Given the description of an element on the screen output the (x, y) to click on. 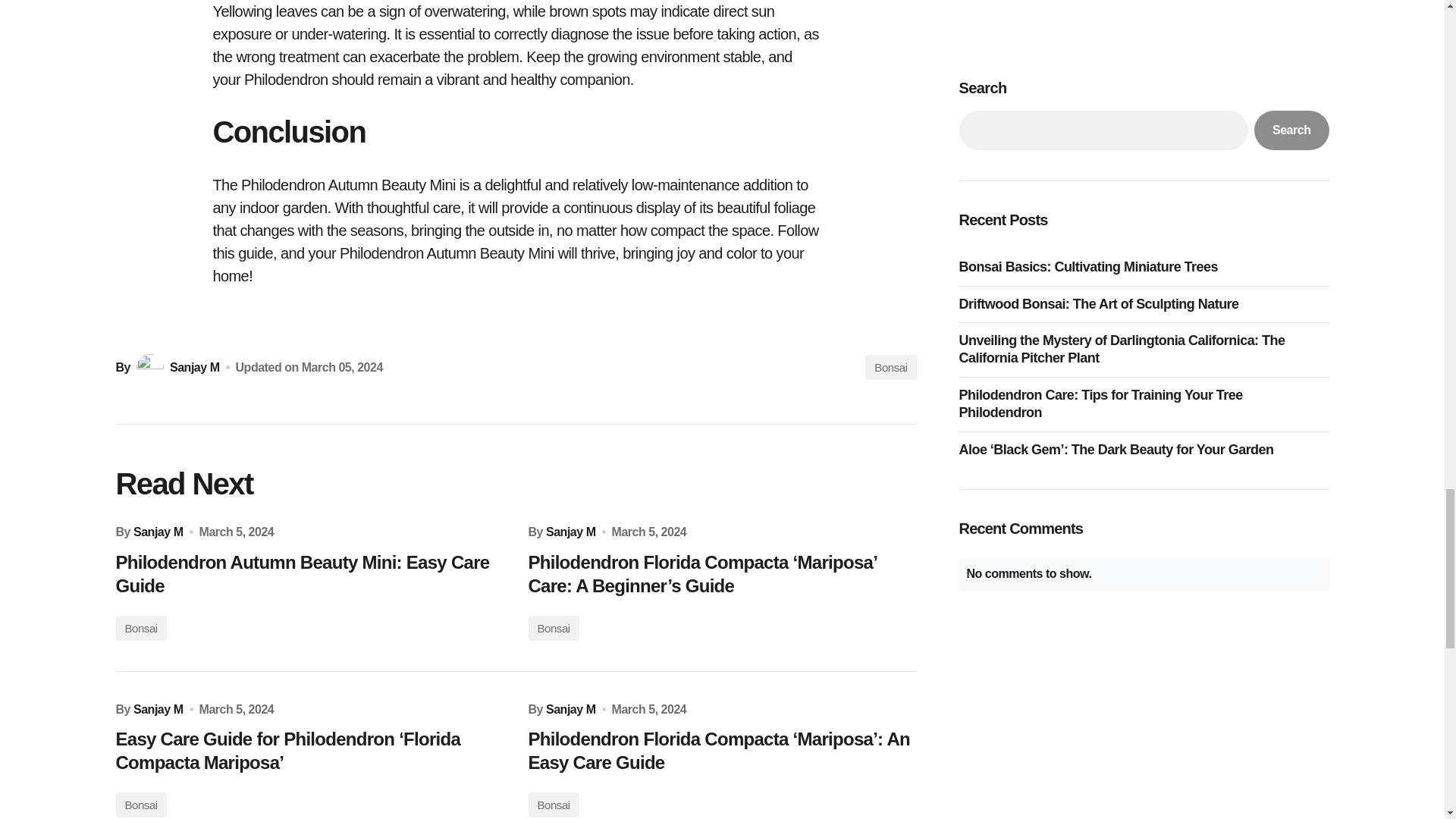
Sanjay M (176, 367)
Bonsai (552, 804)
Philodendron Autumn Beauty Mini: Easy Care Guide (309, 573)
Sanjay M (570, 708)
Bonsai (552, 627)
Bonsai (889, 367)
Bonsai (140, 804)
Sanjay M (158, 531)
Bonsai (140, 627)
Sanjay M (570, 531)
Sanjay M (158, 708)
